Given the description of an element on the screen output the (x, y) to click on. 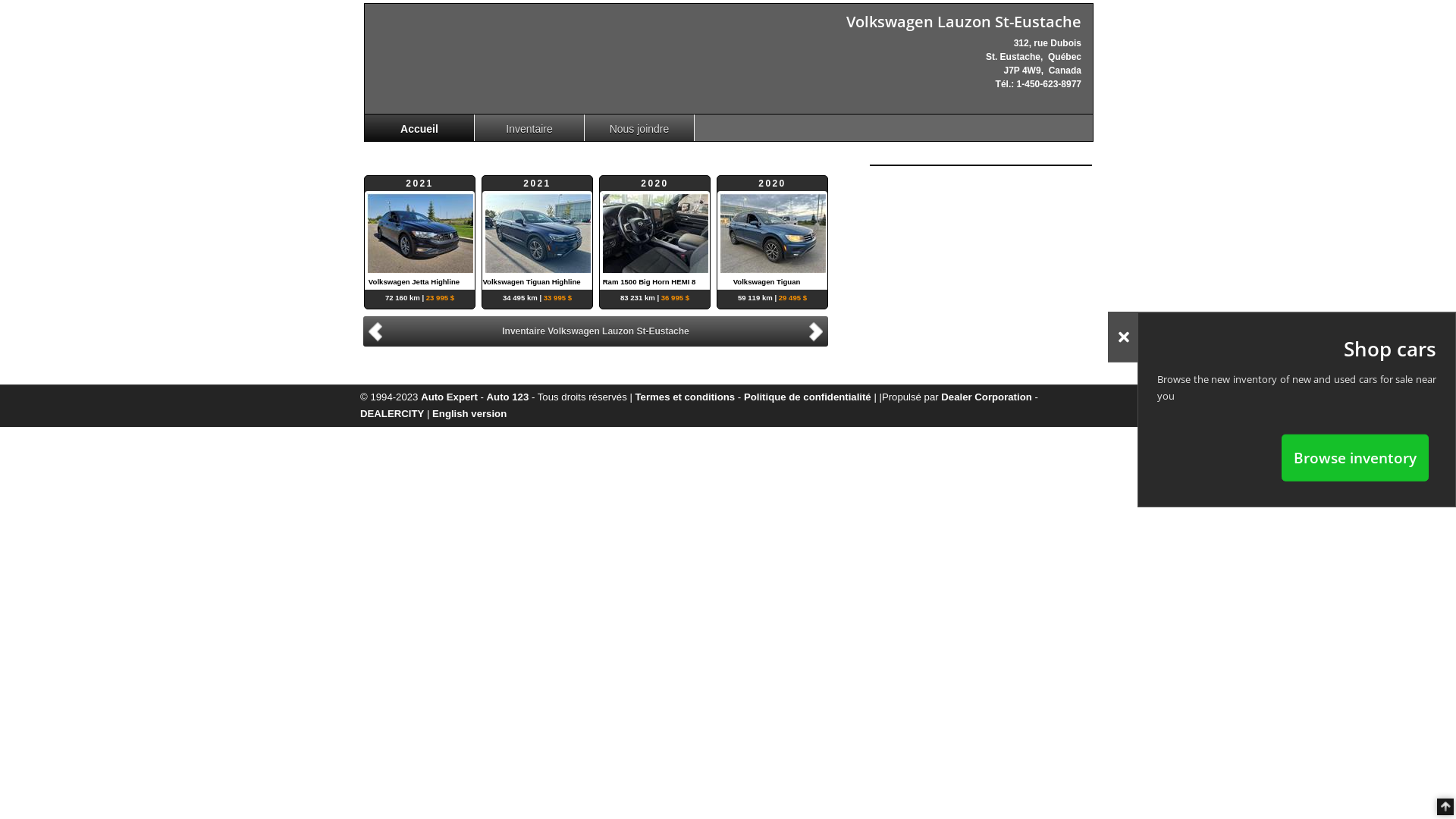
Browse inventory Element type: text (1354, 457)
Auto Expert Element type: text (448, 396)
English version Element type: text (469, 413)
Auto 123 Element type: text (507, 396)
Accueil Element type: text (419, 127)
Dealer Corporation Element type: text (986, 396)
Termes et conditions Element type: text (685, 396)
Inventaire Element type: text (529, 127)
Nous joindre Element type: text (639, 127)
Suivant Element type: hover (818, 329)
DEALERCITY Element type: text (391, 413)
